Given the description of an element on the screen output the (x, y) to click on. 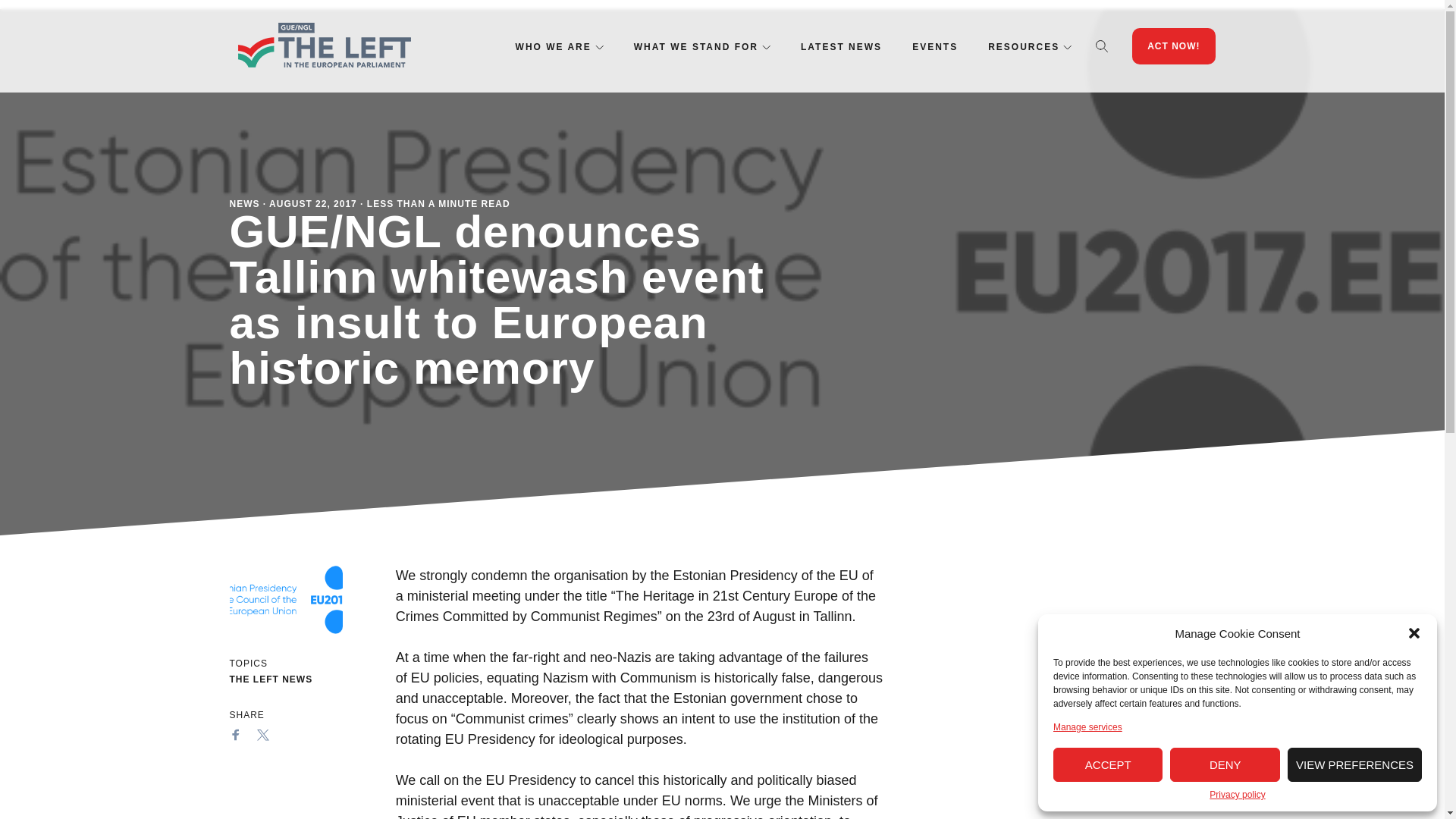
RESOURCES (1023, 46)
The Left (323, 45)
LATEST NEWS (841, 46)
Search (1101, 45)
Manage services (1087, 726)
Accueil (323, 45)
WHAT WE STAND FOR (695, 46)
ACCEPT (1106, 764)
Privacy policy (1237, 794)
VIEW PREFERENCES (1354, 764)
WHO WE ARE (553, 46)
DENY (1224, 764)
Search (1101, 45)
EVENTS (935, 46)
